Given the description of an element on the screen output the (x, y) to click on. 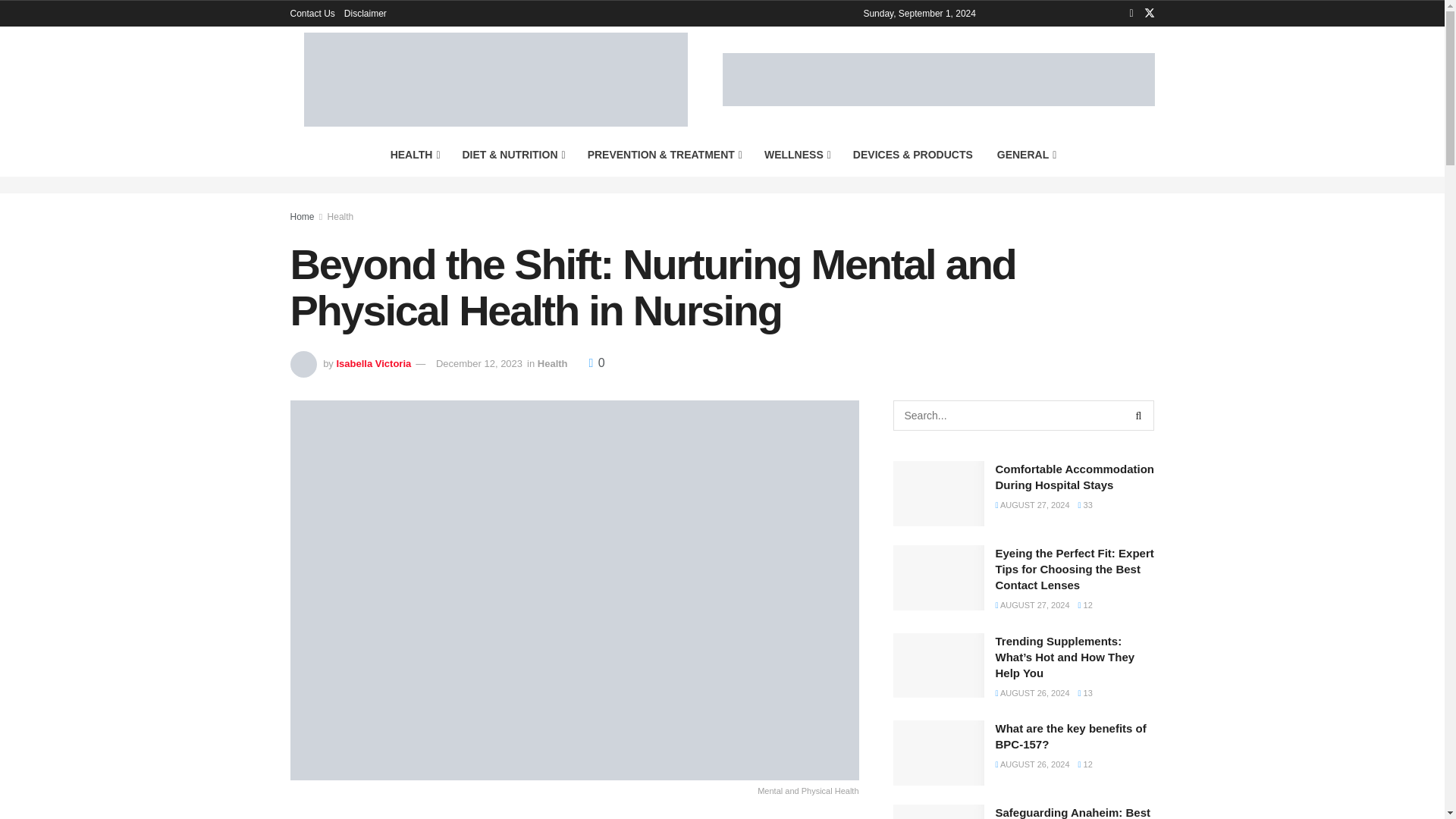
WELLNESS (796, 154)
Disclaimer (365, 13)
HEALTH (413, 154)
GENERAL (1026, 154)
Contact Us (311, 13)
